Given the description of an element on the screen output the (x, y) to click on. 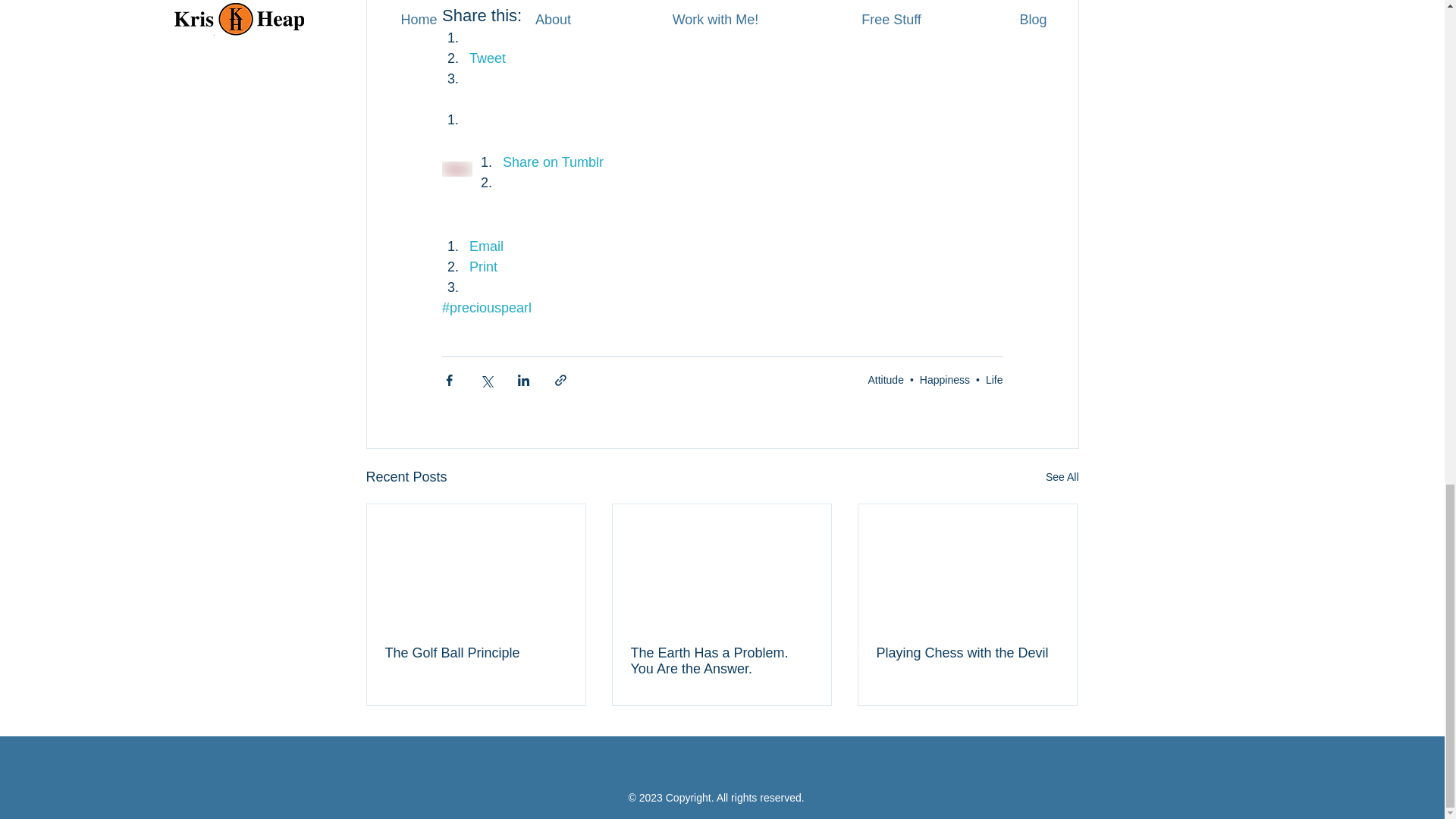
Playing Chess with the Devil (967, 652)
remote content (722, 225)
Happiness (944, 378)
See All (1061, 477)
The Earth Has a Problem. You Are the Answer. (721, 661)
Life (994, 378)
The Golf Ball Principle (476, 652)
Attitude (884, 378)
Tweet (486, 58)
Share on Tumblr (552, 161)
Email (485, 246)
Print (482, 266)
